Given the description of an element on the screen output the (x, y) to click on. 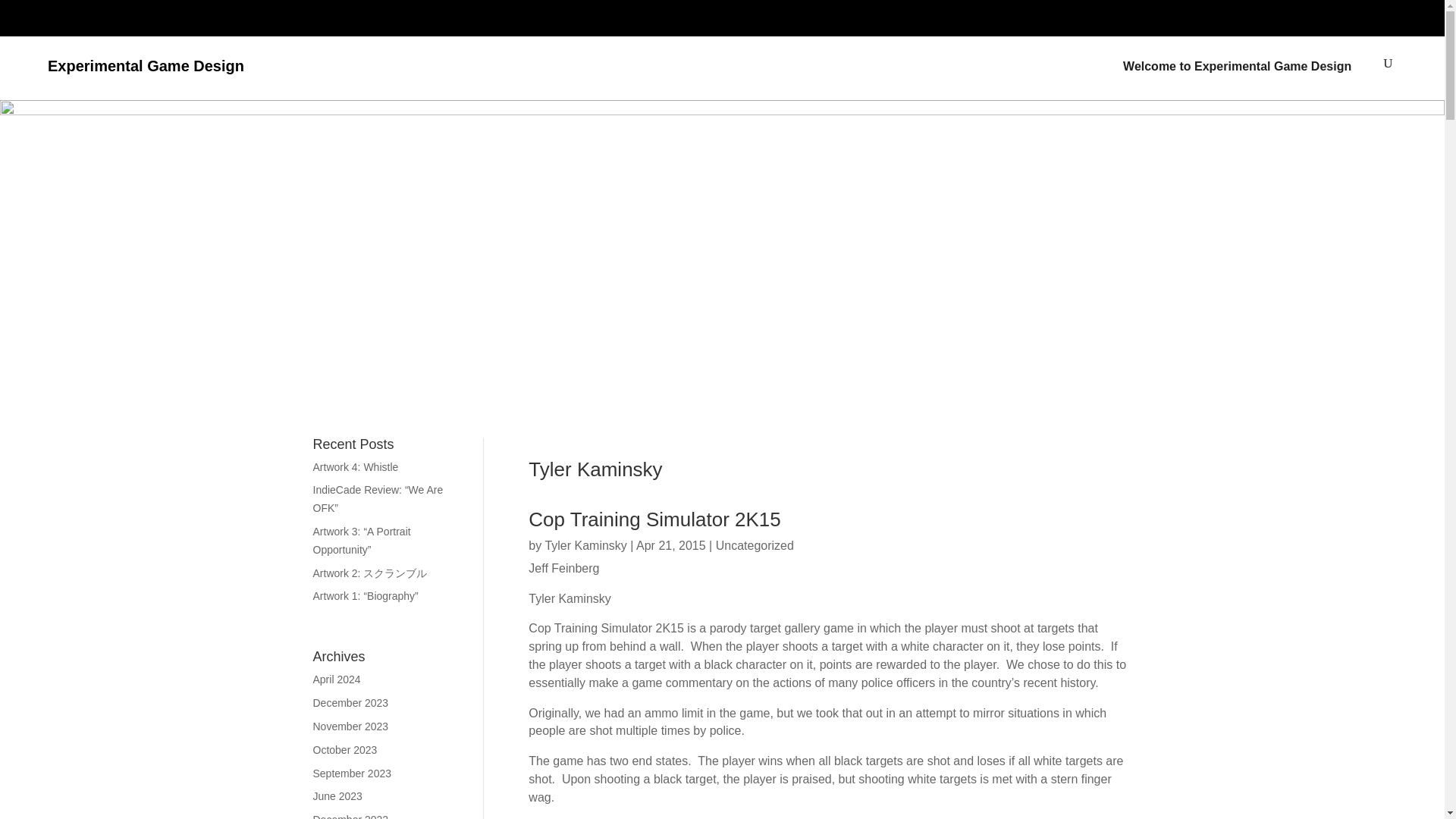
Artwork 4: Whistle (355, 467)
June 2023 (337, 796)
September 2023 (352, 773)
December 2022 (350, 816)
Welcome to Experimental Game Design (1236, 70)
November 2023 (350, 726)
October 2023 (345, 749)
Experimental Game Design (146, 65)
Posts by Tyler Kaminsky (585, 545)
December 2023 (350, 702)
